Given the description of an element on the screen output the (x, y) to click on. 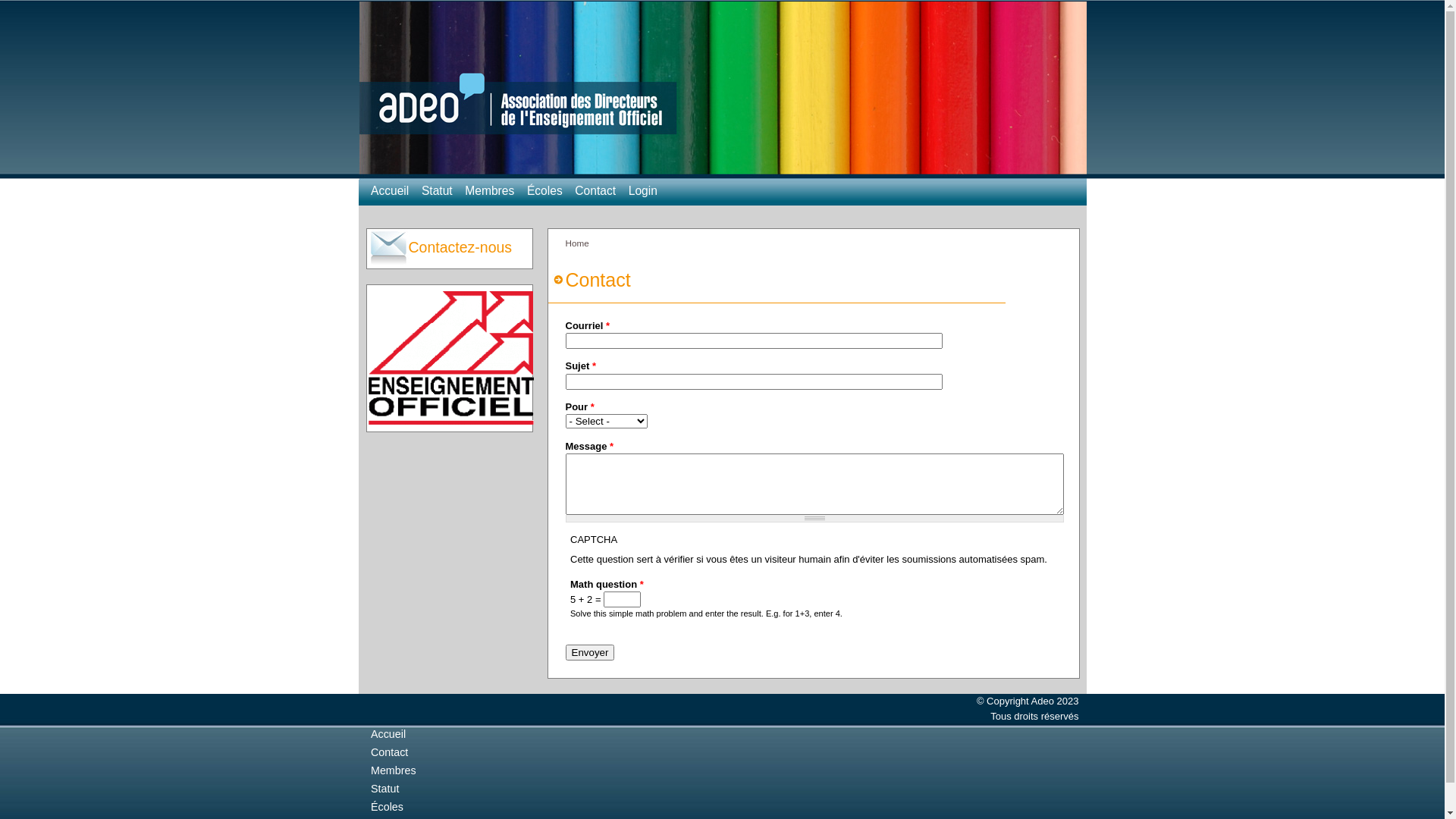
Statut Element type: text (436, 190)
Home Element type: hover (721, 90)
Contact Element type: text (388, 752)
Accueil Element type: text (387, 734)
Contact Element type: text (594, 190)
Skip to main content Element type: text (44, 0)
Login Element type: text (642, 190)
Membres Element type: text (393, 770)
Statut Element type: text (384, 788)
Home Element type: hover (721, 176)
Membres Element type: text (489, 190)
Envoyer Element type: text (590, 652)
Home Element type: text (577, 242)
Contactez-nous Element type: text (449, 255)
Accueil Element type: text (389, 190)
